Given the description of an element on the screen output the (x, y) to click on. 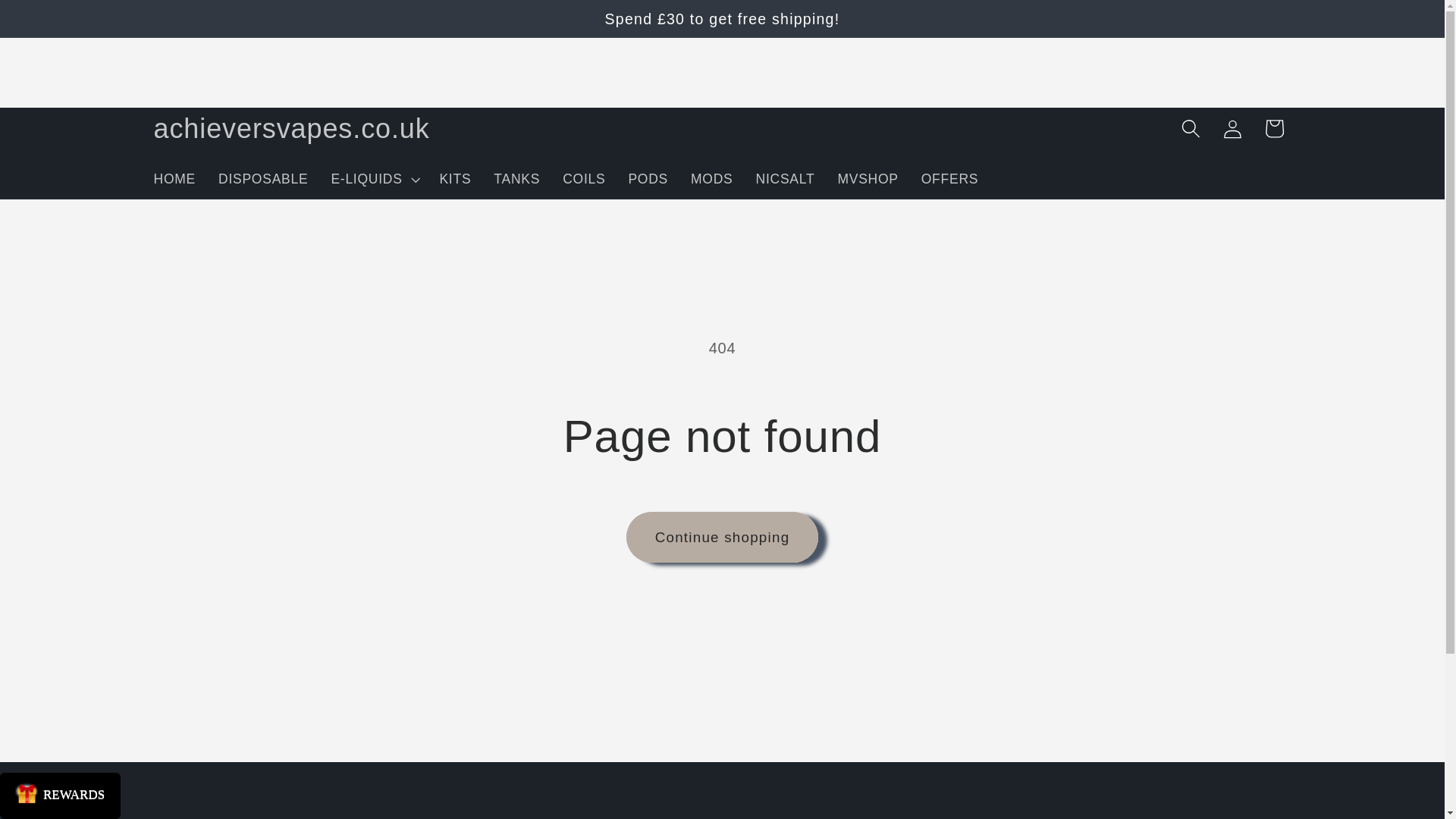
Log in (1232, 128)
HOME (175, 178)
COILS (583, 178)
MODS (711, 178)
Skip to content (60, 24)
Cart (1273, 128)
achieversvapes.co.uk (291, 128)
Continue shopping (722, 536)
OFFERS (950, 178)
DISPOSABLE (262, 178)
